Given the description of an element on the screen output the (x, y) to click on. 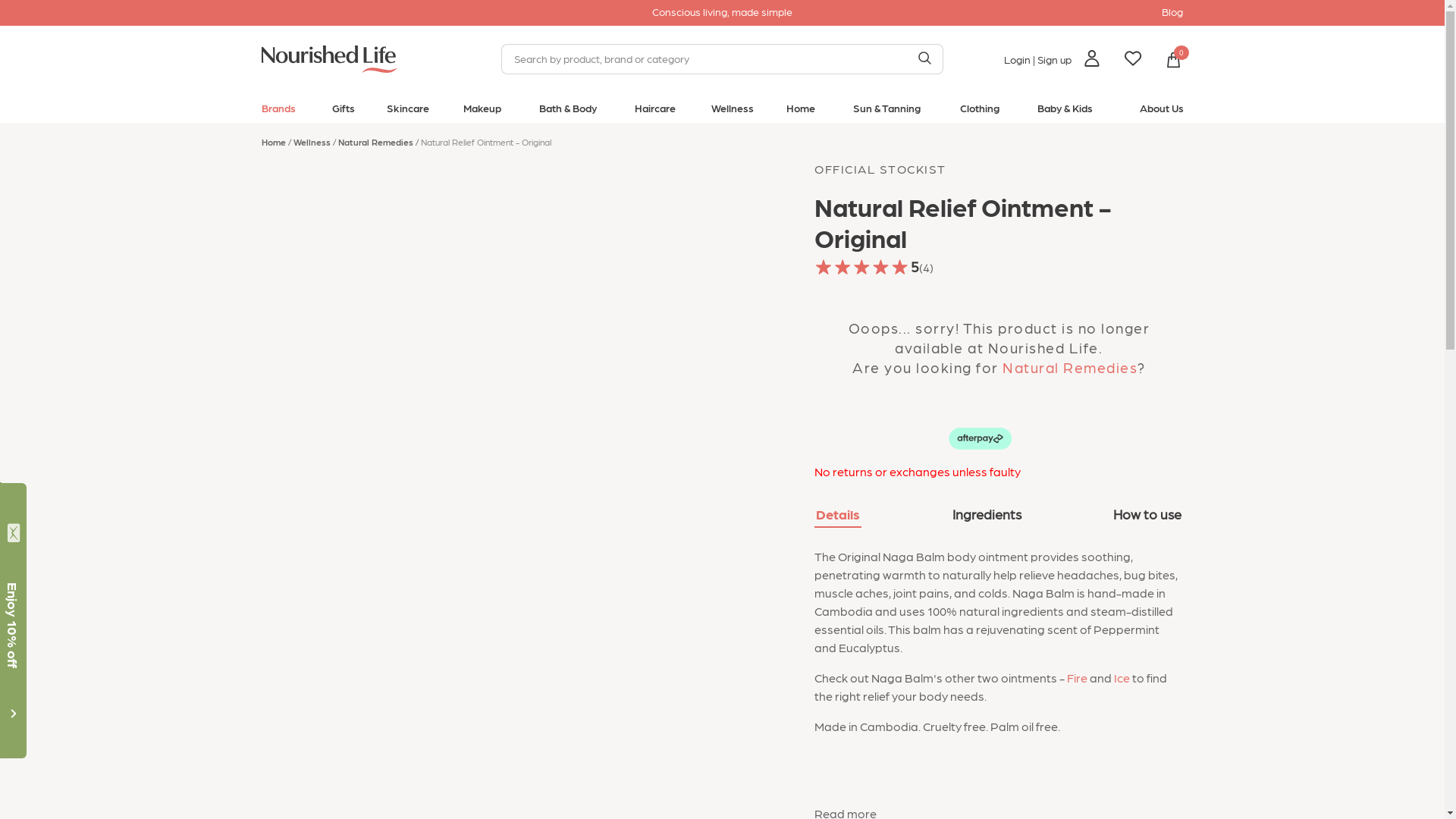
Brands Element type: text (277, 111)
About Us Element type: text (1161, 111)
Fire Element type: text (1076, 677)
Makeup Element type: text (482, 111)
Login Element type: text (1017, 59)
Gifts Element type: text (343, 111)
Home Element type: text (276, 141)
Ice Element type: text (1121, 677)
Blog Element type: text (1172, 11)
Natural Remedies Element type: text (379, 141)
Sign up Element type: text (1054, 59)
Natural Remedies Element type: text (1069, 366)
Baby & Kids Element type: text (1064, 111)
Sun & Tanning Element type: text (886, 111)
Wellness Element type: text (314, 141)
(4) Element type: text (926, 267)
Bath & Body Element type: text (567, 111)
Clothing Element type: text (979, 111)
Wellness Element type: text (732, 111)
Skincare Element type: text (407, 111)
Home Element type: text (800, 111)
0 Element type: text (1172, 59)
Haircare Element type: text (654, 111)
